Given the description of an element on the screen output the (x, y) to click on. 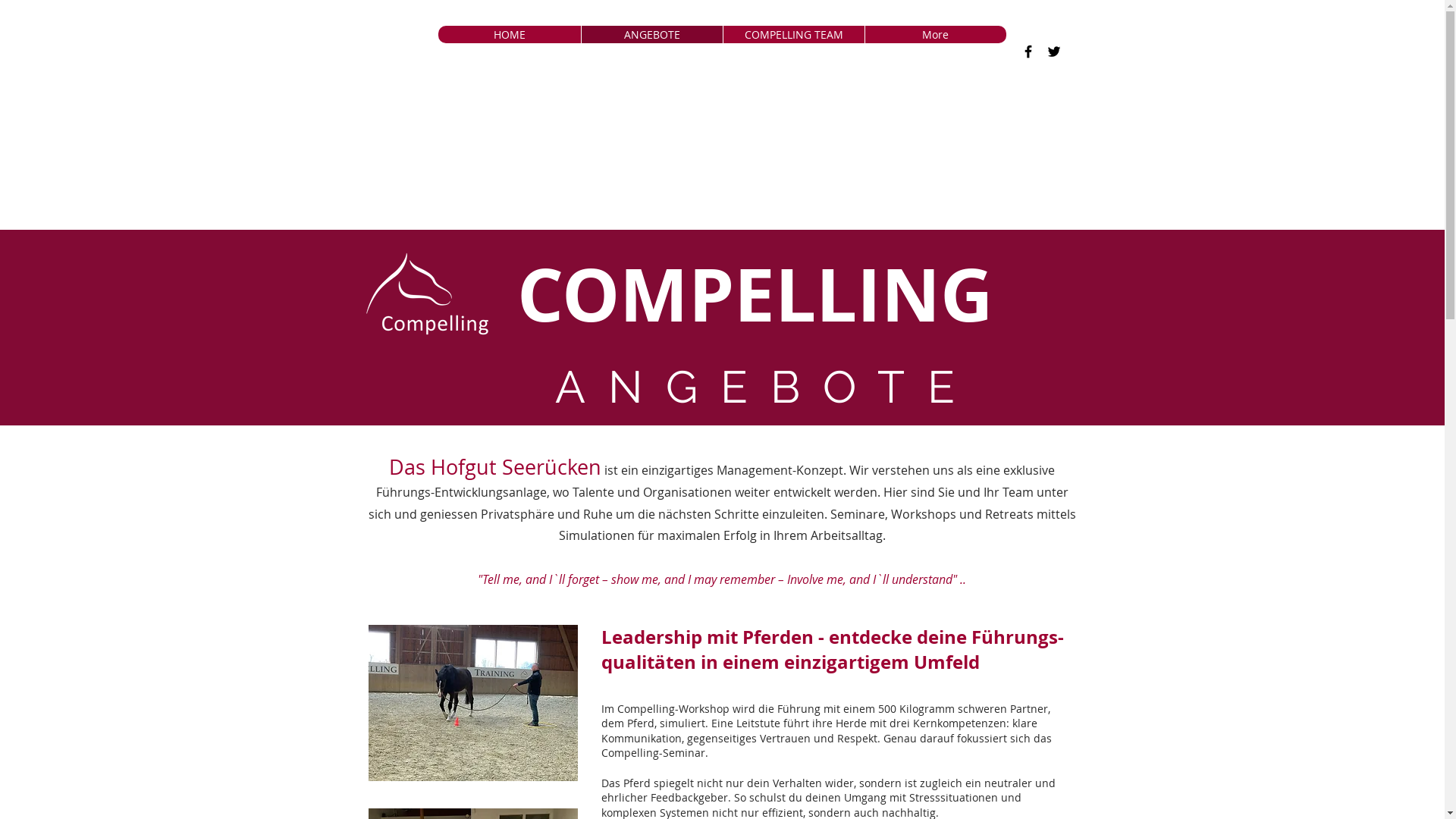
ANGEBOTE Element type: text (651, 34)
HOME Element type: text (509, 34)
COMPELLING TEAM Element type: text (792, 34)
